Given the description of an element on the screen output the (x, y) to click on. 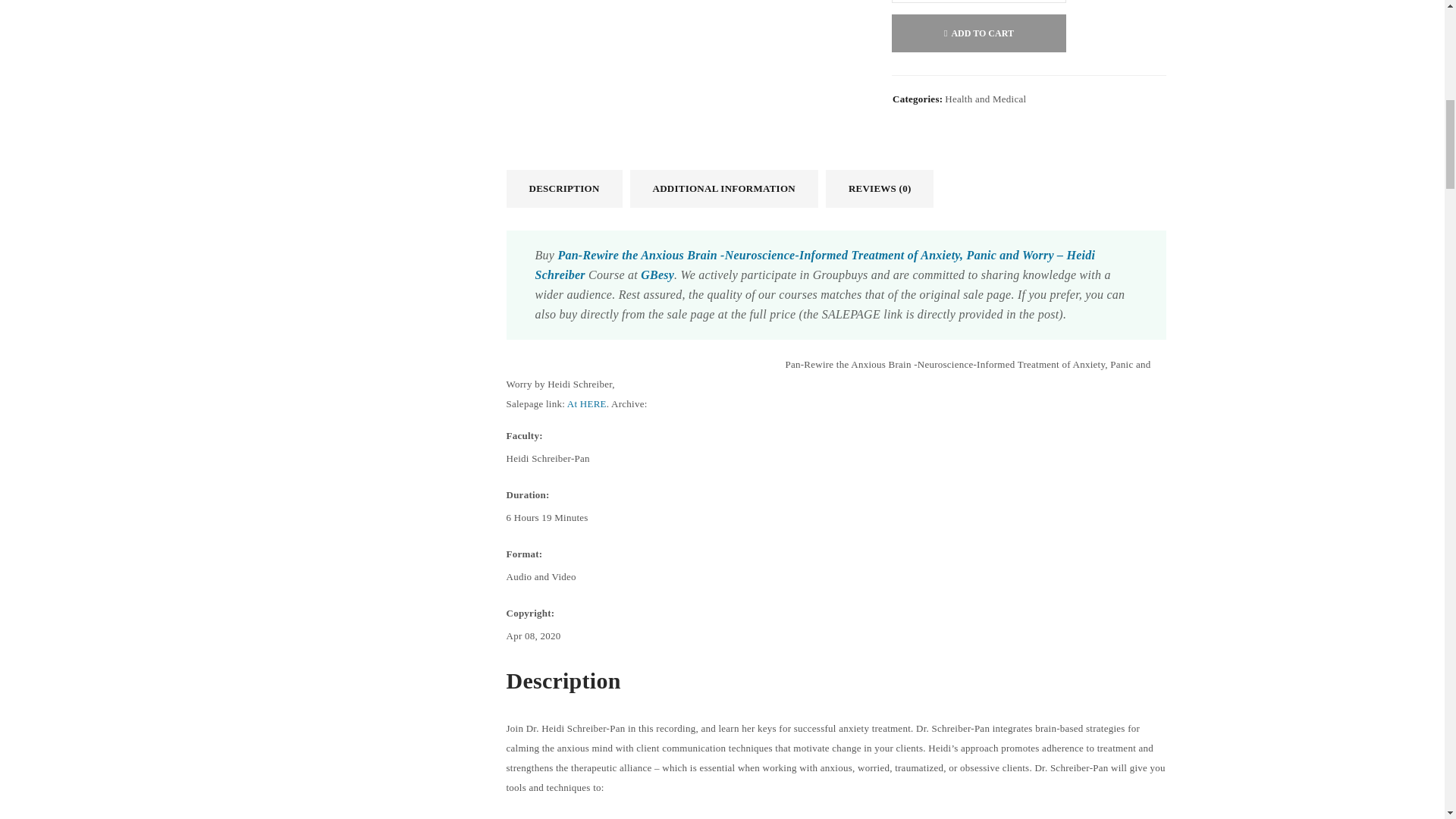
1 (978, 1)
Qty (978, 1)
